Given the description of an element on the screen output the (x, y) to click on. 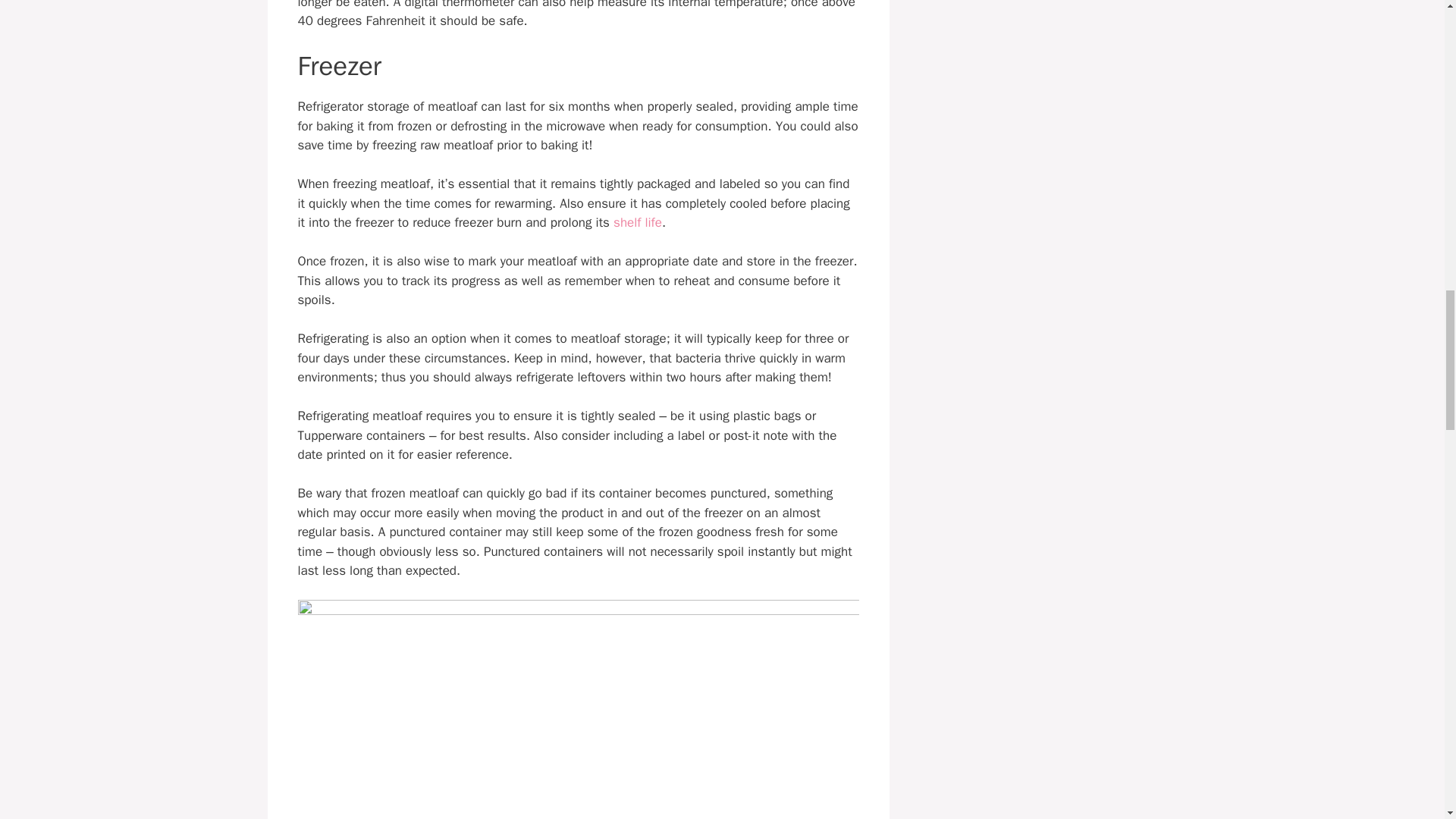
shelf life (637, 222)
